Given the description of an element on the screen output the (x, y) to click on. 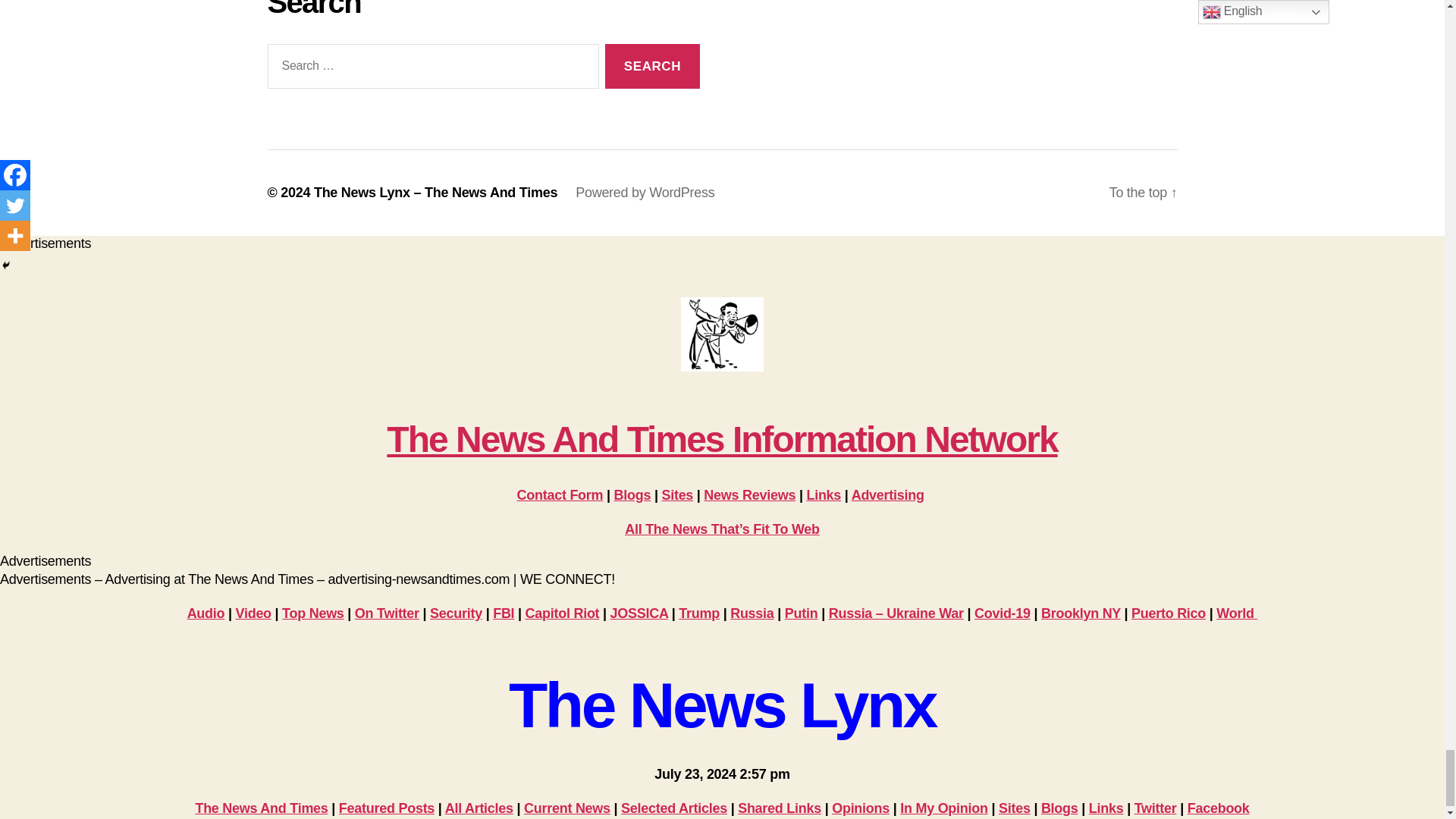
Search (651, 66)
Search (651, 66)
